Given the description of an element on the screen output the (x, y) to click on. 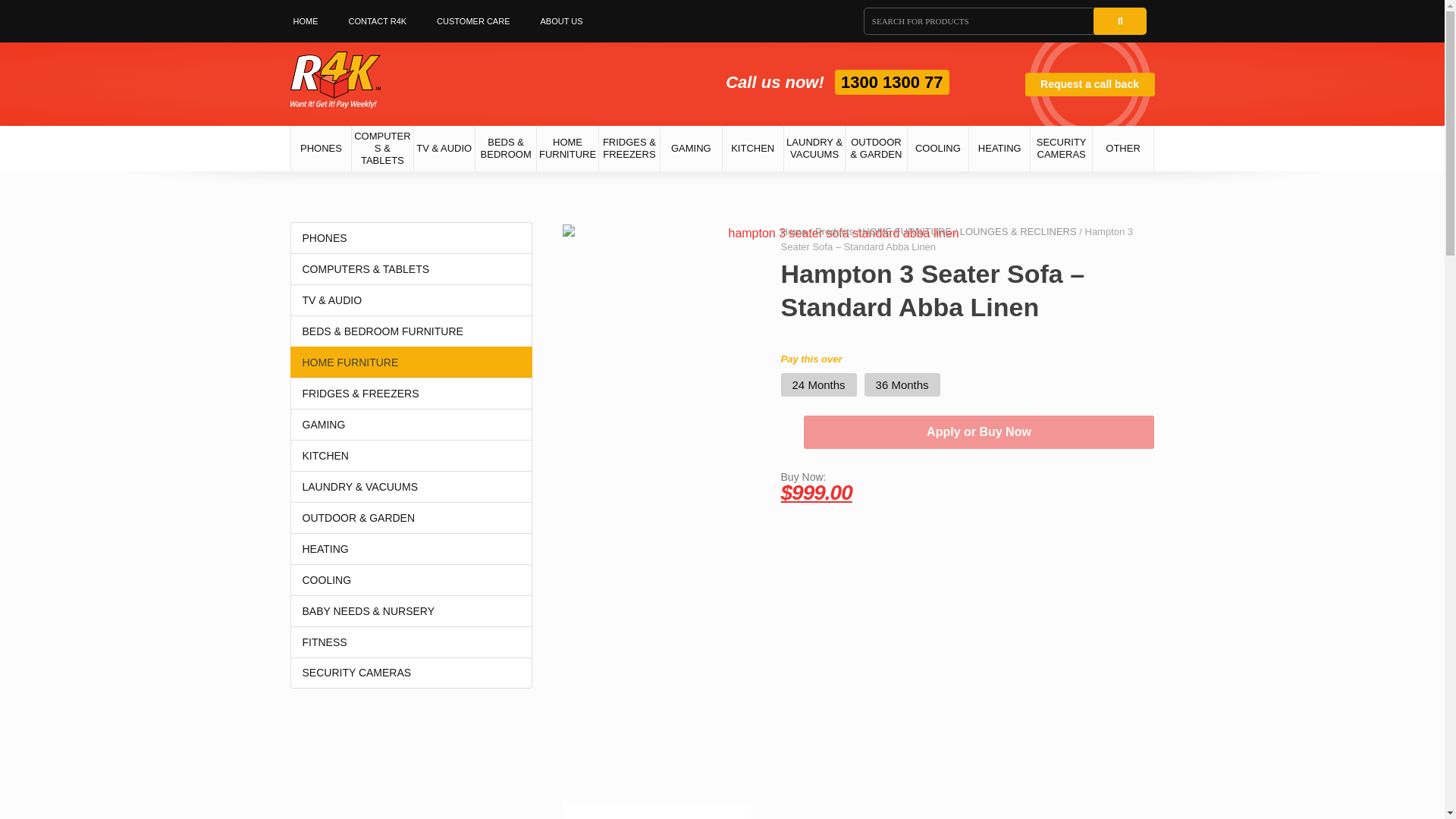
GAMING (691, 148)
1300 1300 77 (891, 82)
HEATING (999, 148)
COOLING (938, 148)
PHONES (320, 148)
Request a call back (1089, 84)
CONTACT R4K (377, 21)
OTHER (1123, 148)
ABOUT US (560, 21)
HOME FURNITURE (567, 148)
